Given the description of an element on the screen output the (x, y) to click on. 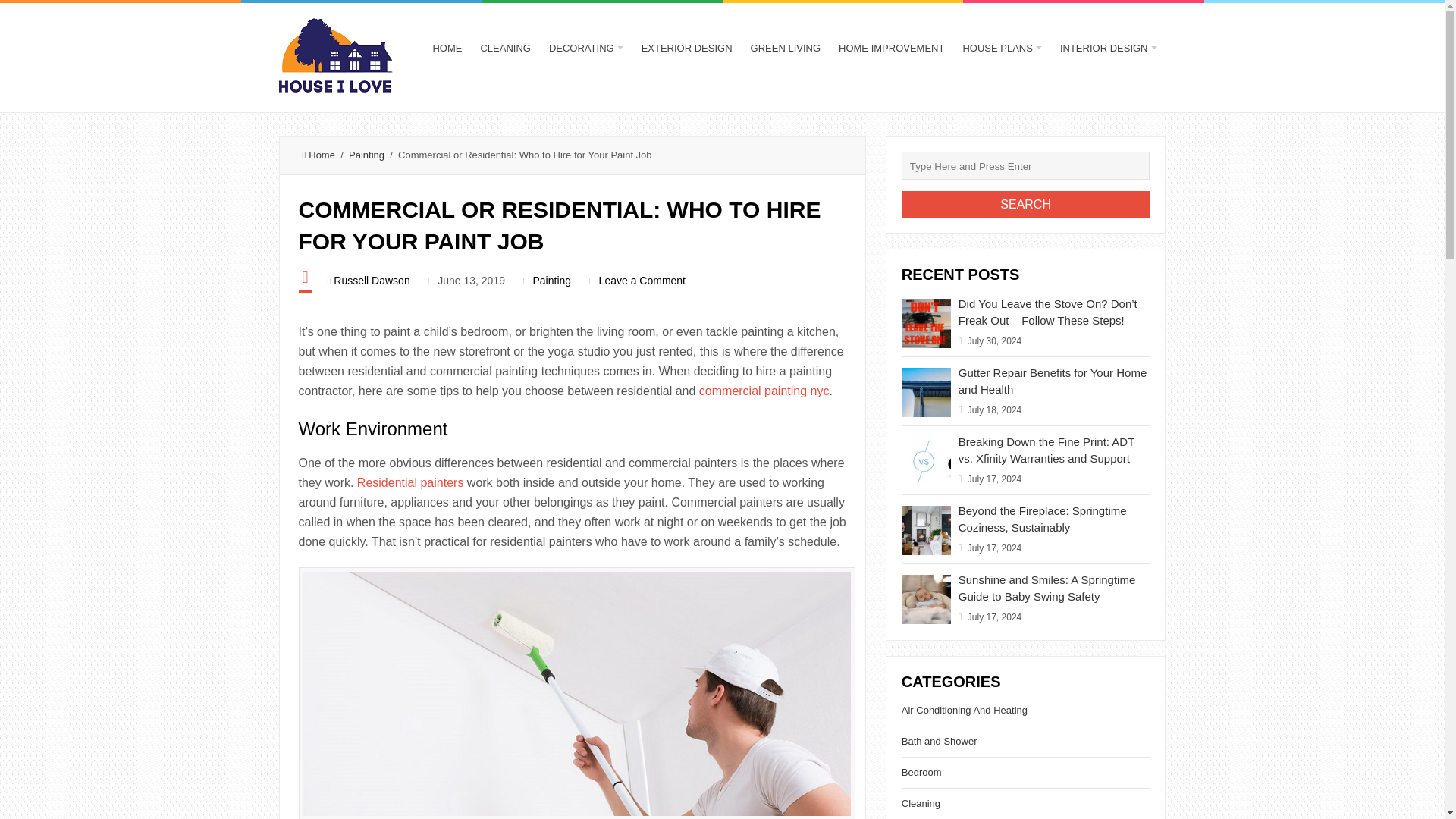
Painting (551, 280)
Beyond the Fireplace: Springtime Coziness, Sustainably (1042, 518)
Sunshine and Smiles: A Springtime Guide to Baby Swing Safety (1046, 587)
Search (1025, 203)
HOME IMPROVEMENT (891, 48)
Russell Dawson (371, 280)
EXTERIOR DESIGN (686, 48)
Painting (366, 154)
Gutter Repair Benefits for Your Home and Health (1052, 380)
GREEN LIVING (785, 48)
commercial painting nyc (763, 390)
Home (317, 154)
INTERIOR DESIGN (1108, 48)
June 13, 2019 (471, 280)
